Given the description of an element on the screen output the (x, y) to click on. 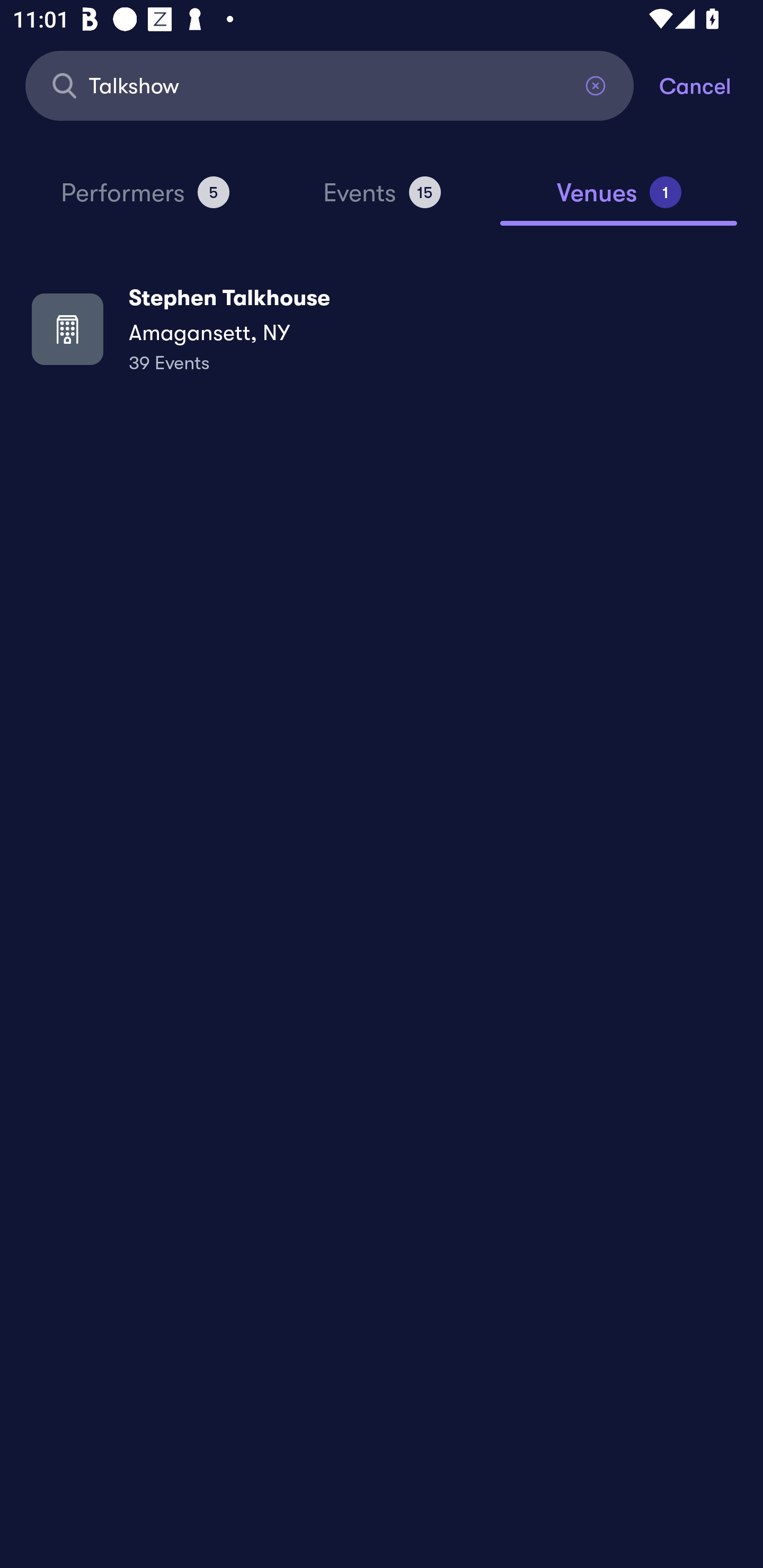
Talkshow Find (329, 85)
Talkshow Find (329, 85)
Cancel (711, 85)
Performers 5 (144, 200)
Events 15 (381, 200)
Venues 1 (618, 200)
Stephen Talkhouse Amagansett, NY 39 Events (381, 328)
